Given the description of an element on the screen output the (x, y) to click on. 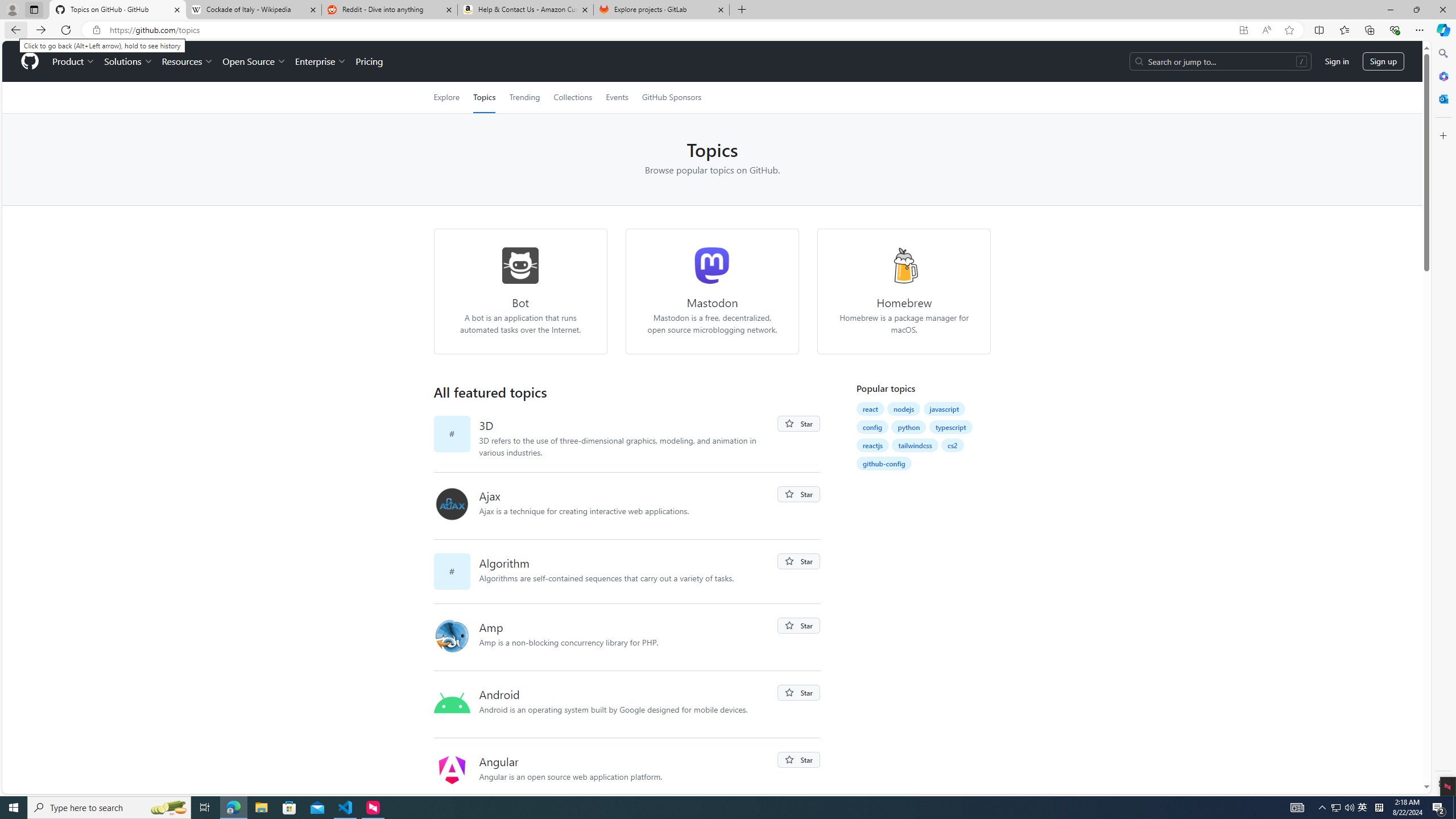
angular (456, 771)
amphp (451, 635)
Sign up (1382, 61)
Open Source (254, 60)
homebrew (904, 265)
github-config (884, 463)
javascript (944, 408)
config (872, 427)
